Given the description of an element on the screen output the (x, y) to click on. 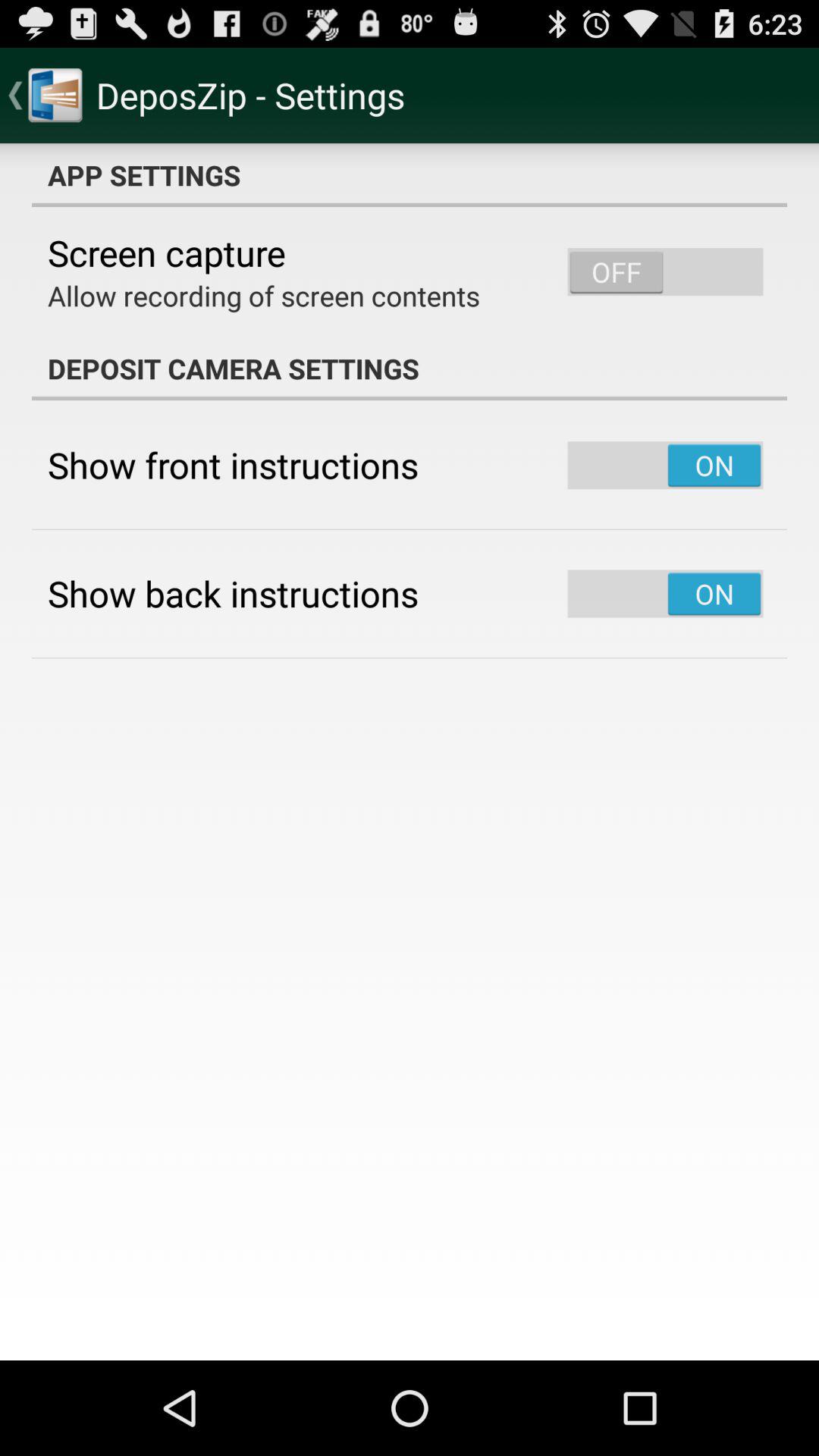
select the allow recording of (263, 295)
